Given the description of an element on the screen output the (x, y) to click on. 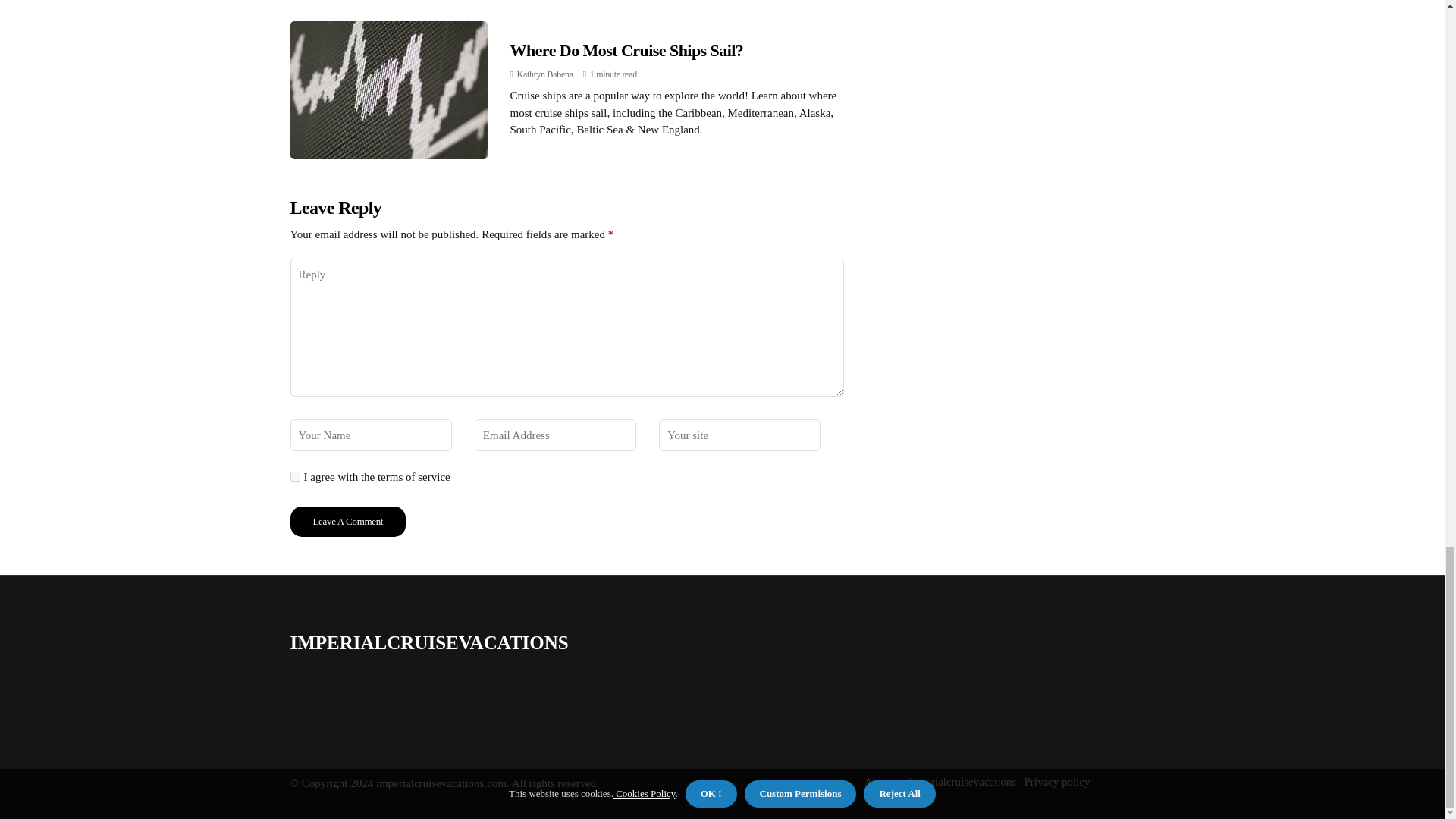
Leave a Comment (347, 521)
yes (294, 476)
Kathryn Babena (544, 73)
Where Do Most Cruise Ships Sail? (625, 49)
Posts by Kathryn Babena (544, 73)
Leave a Comment (347, 521)
